Given the description of an element on the screen output the (x, y) to click on. 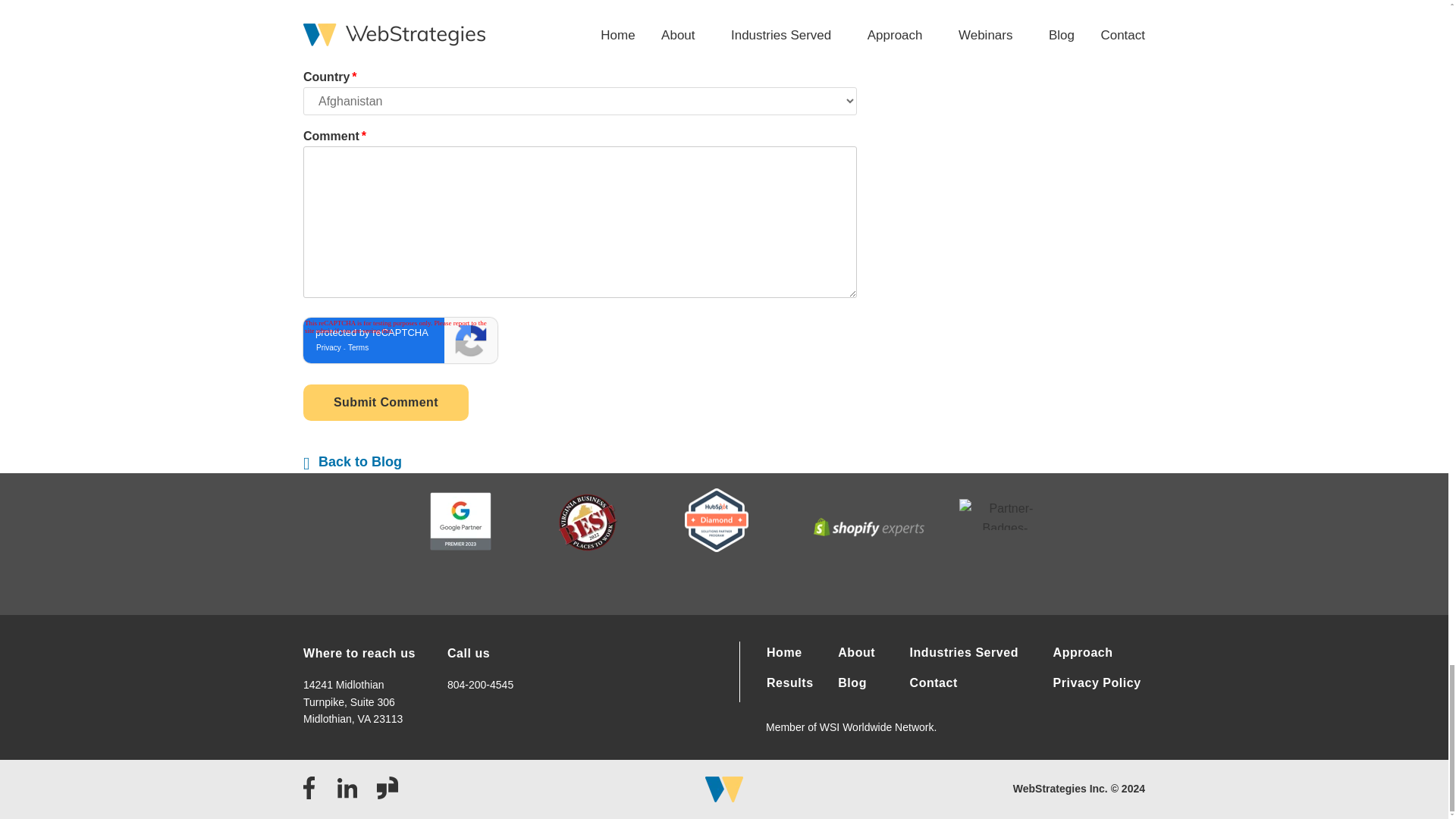
Submit Comment (385, 402)
reCAPTCHA (399, 340)
